Given the description of an element on the screen output the (x, y) to click on. 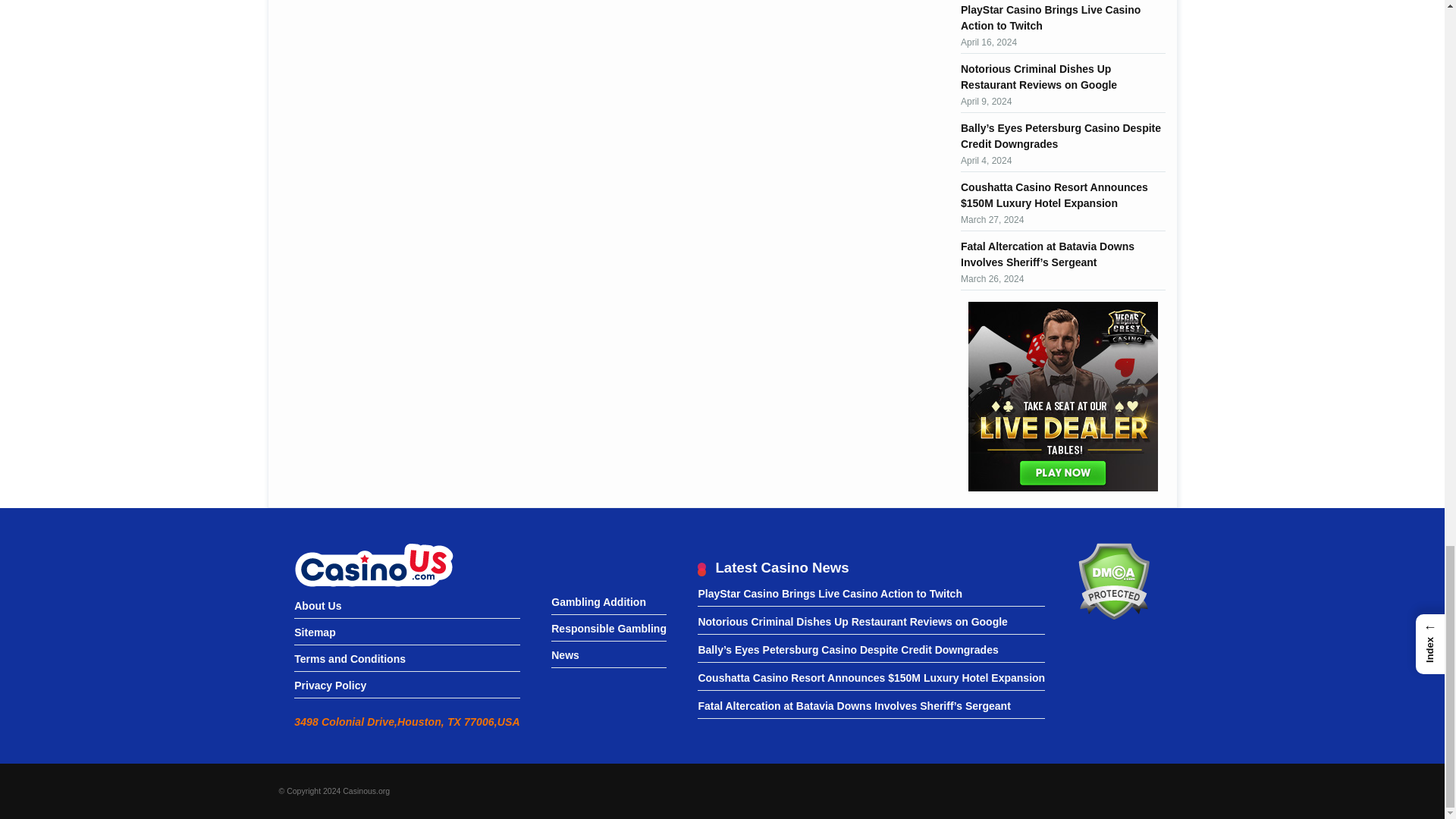
DMCA.com Protection Status (1113, 616)
Casino US (373, 565)
Vegas Crest Casino for American Players (1062, 396)
